Given the description of an element on the screen output the (x, y) to click on. 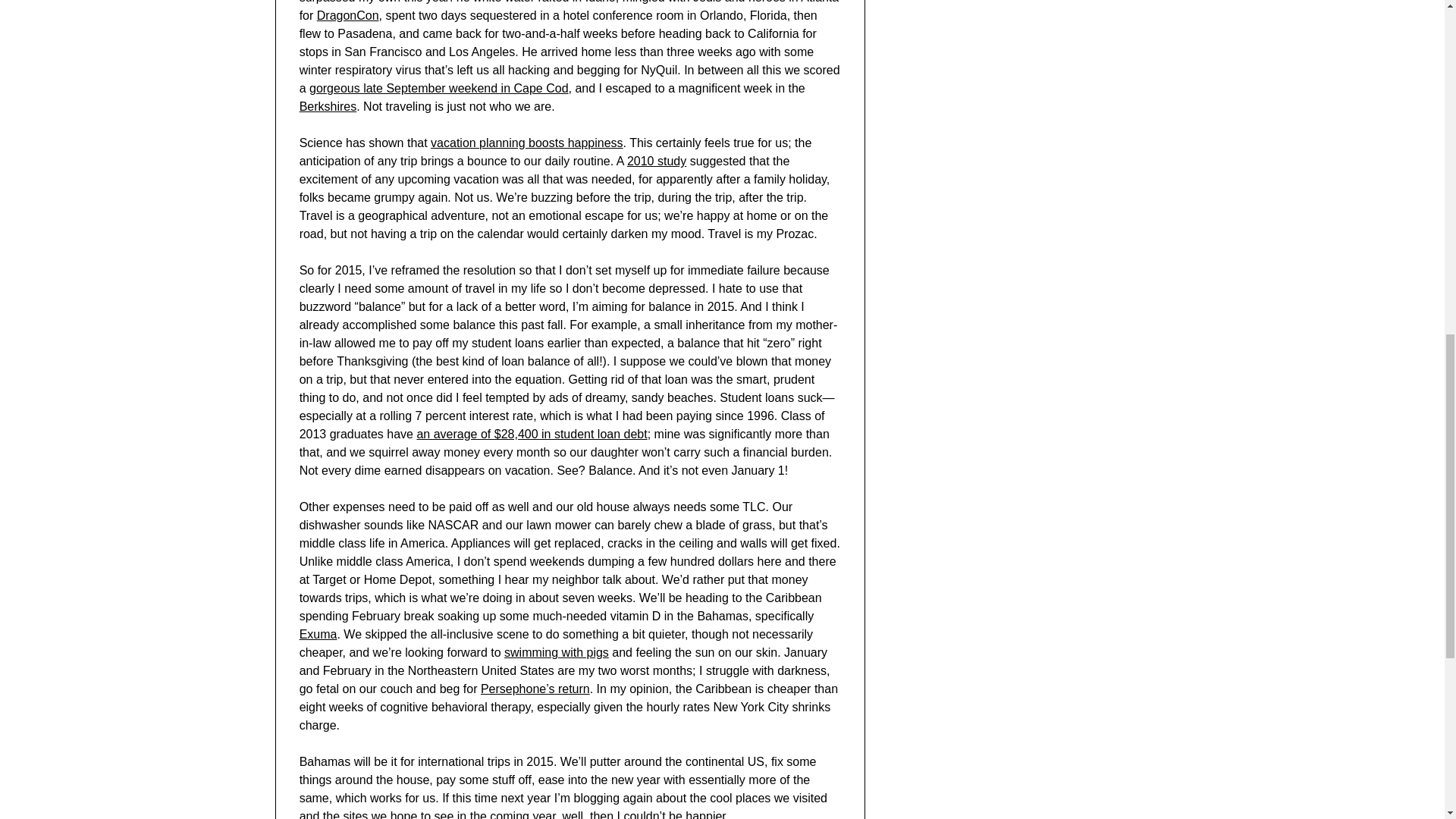
gorgeous late September weekend in Cape Cod (438, 88)
vacation planning boosts happiness (526, 142)
Exuma (318, 634)
swimming with pigs (555, 652)
DragonCon (347, 15)
Berkshires (327, 106)
2010 study (656, 160)
